Given the description of an element on the screen output the (x, y) to click on. 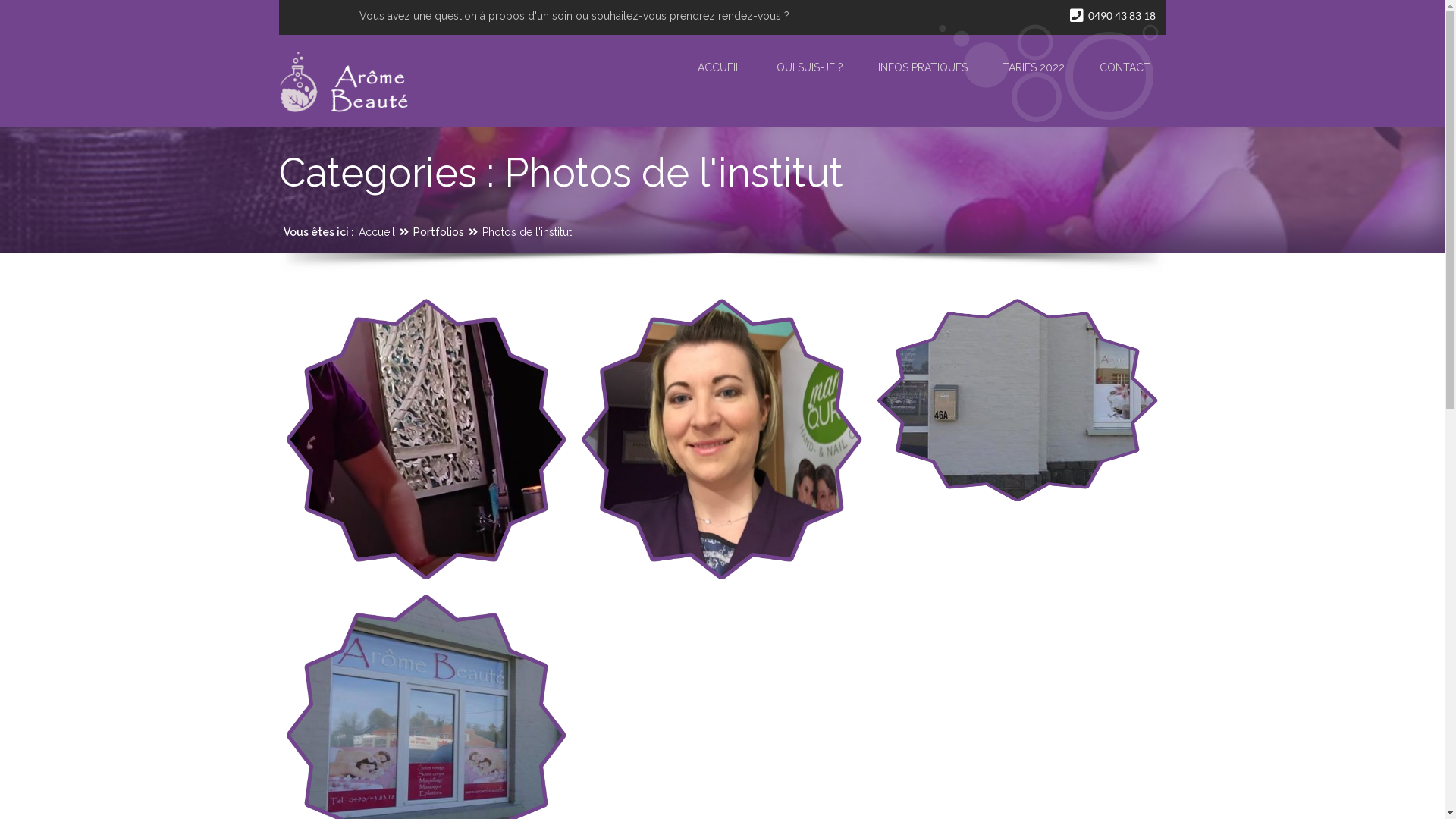
TARIFS 2022 Element type: text (1033, 66)
QUI SUIS-JE ? Element type: text (809, 66)
CONTACT Element type: text (1124, 66)
ACCUEIL Element type: text (719, 66)
0490 43 83 18 Element type: text (1110, 15)
Photos de l'institut Element type: text (526, 231)
Accueil Element type: text (375, 231)
INFOS PRATIQUES Element type: text (922, 66)
